Given the description of an element on the screen output the (x, y) to click on. 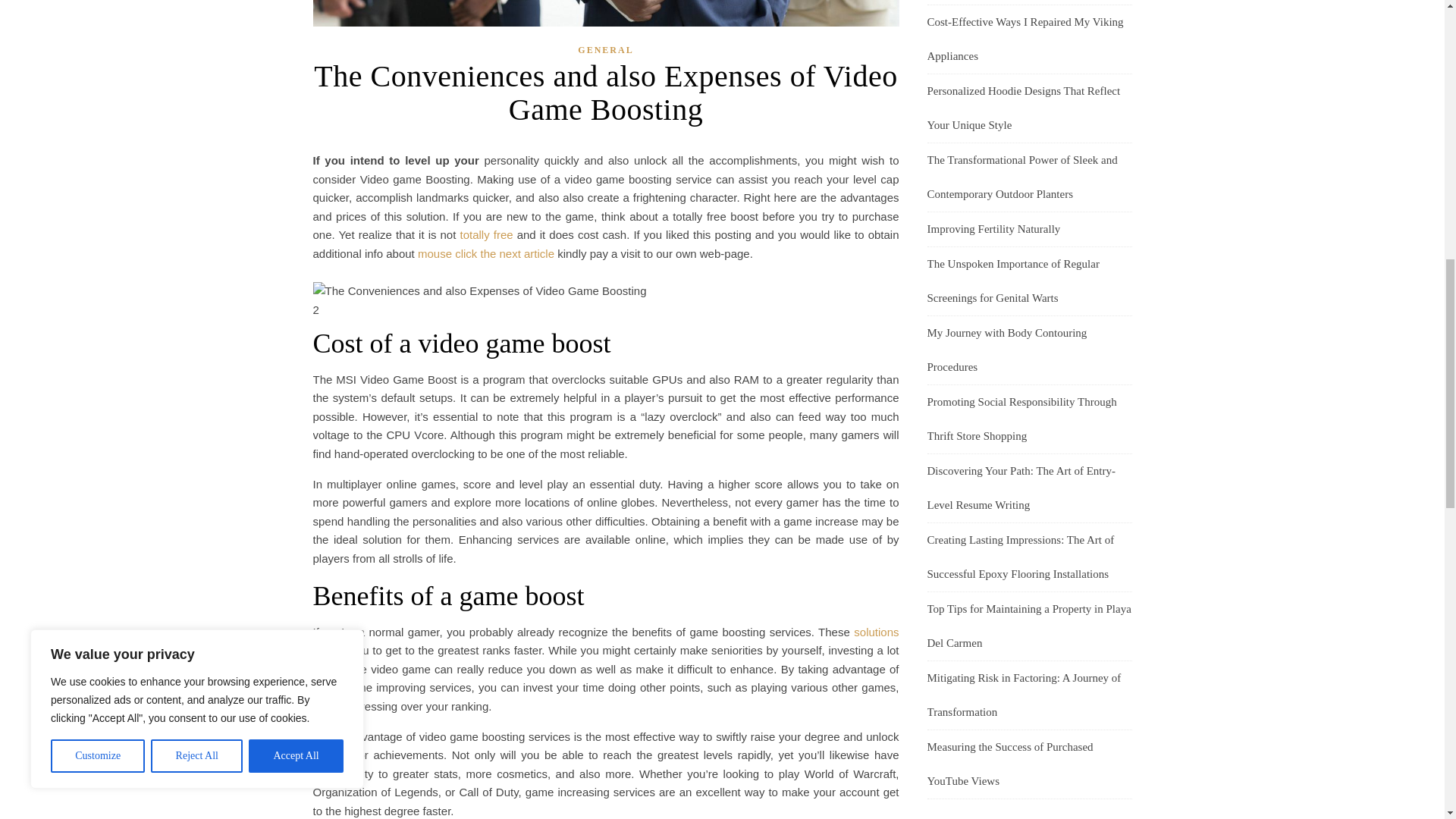
totally free (486, 234)
mouse click the next article (485, 253)
GENERAL (605, 49)
solutions enable (605, 641)
